Given the description of an element on the screen output the (x, y) to click on. 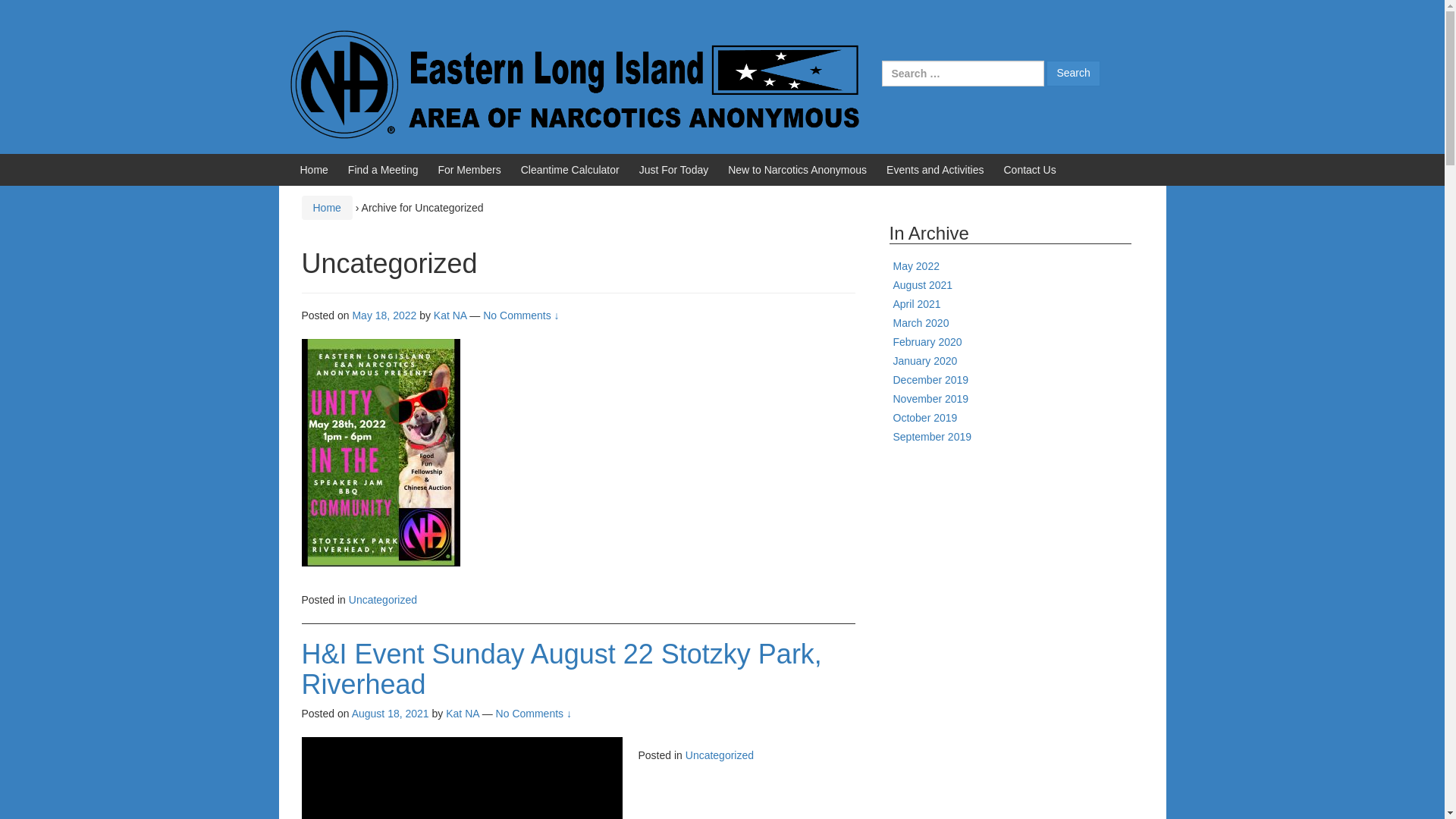
Search (1072, 73)
Kat NA (450, 315)
For Members (469, 169)
Contact Us (1029, 169)
Cleantime Calculator (570, 169)
Just For Today (674, 169)
Home (314, 169)
Search (1072, 73)
Find a Meeting (383, 169)
View all posts by Kat NA (462, 713)
May 18, 2022 (384, 315)
4:41 am (384, 315)
New to Narcotics Anonymous (797, 169)
View all posts by Kat NA (450, 315)
